Given the description of an element on the screen output the (x, y) to click on. 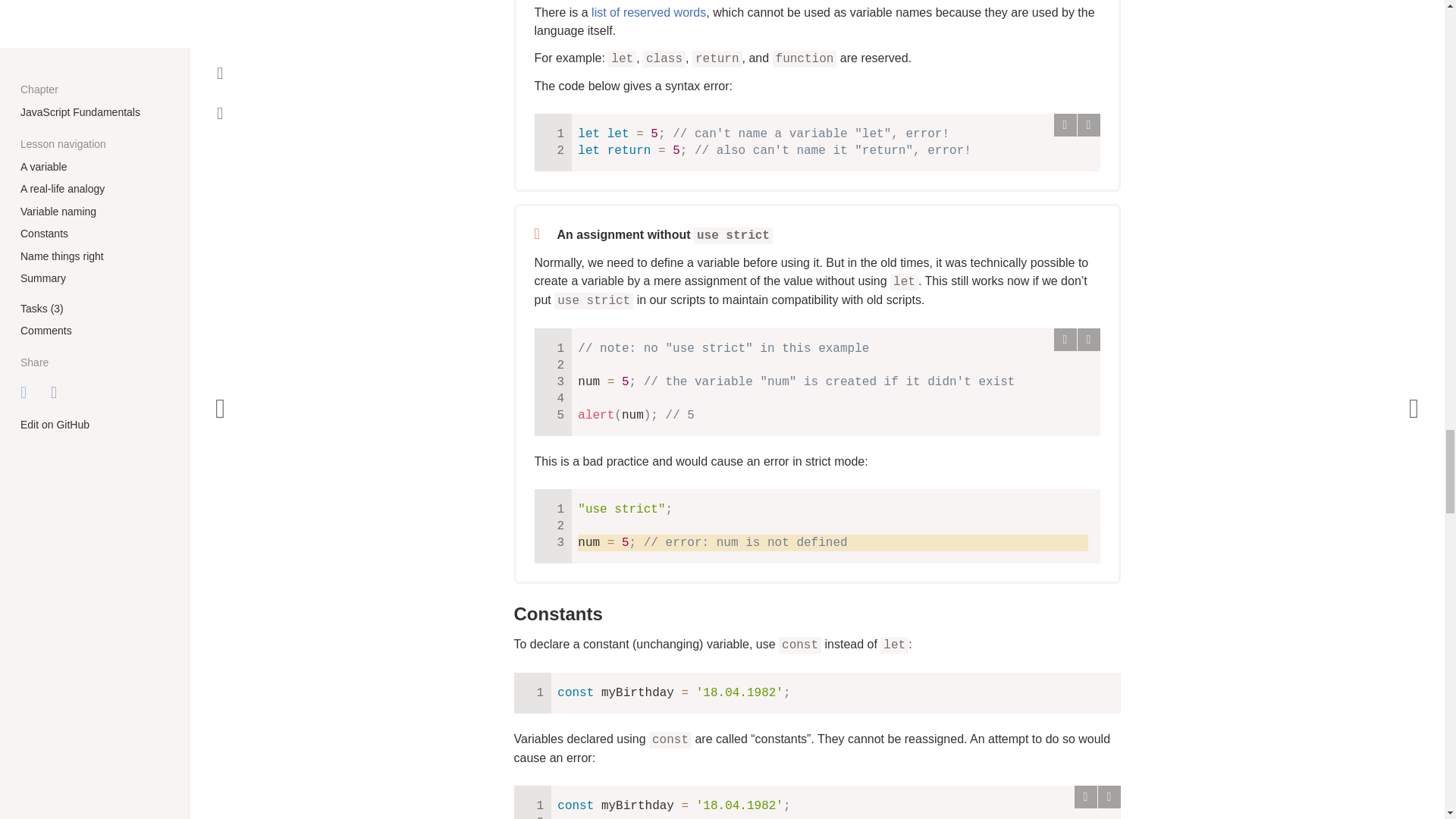
open in sandbox (1088, 124)
run (1065, 124)
open in sandbox (1109, 796)
run (1085, 796)
open in sandbox (1088, 339)
run (1065, 339)
